Given the description of an element on the screen output the (x, y) to click on. 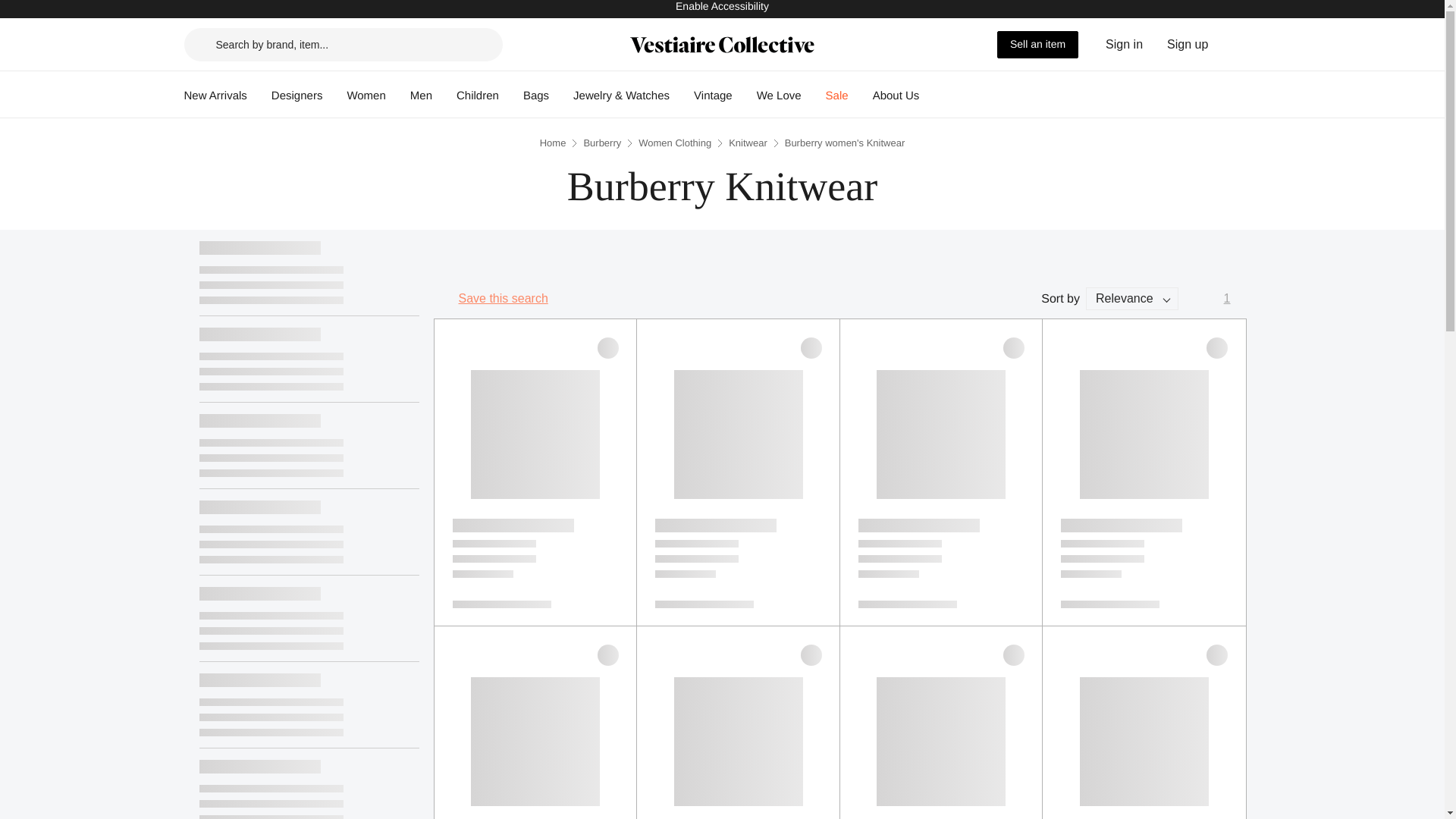
Save this search (490, 298)
Sell an item (1037, 43)
Relevance (1131, 298)
We Love (779, 95)
Sign in (1123, 44)
Designers (296, 95)
Search by brand, item... (342, 43)
Women Clothing (675, 142)
Burberry (602, 142)
Children (478, 95)
Knitwear (748, 142)
New Arrivals (214, 95)
Sign up (1187, 44)
About Us (896, 95)
Home (553, 142)
